Given the description of an element on the screen output the (x, y) to click on. 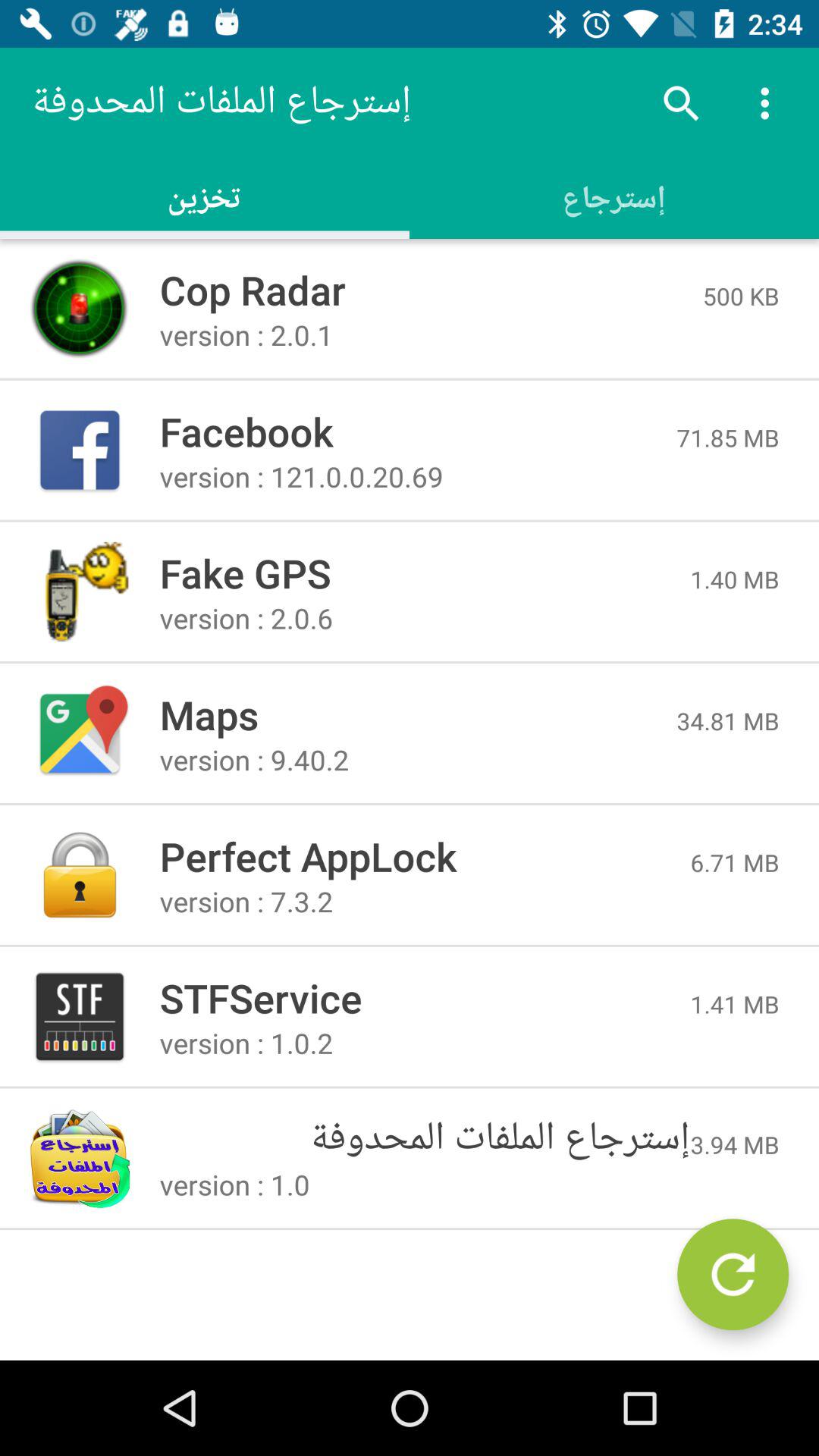
click icon below version 2 0 (417, 714)
